Given the description of an element on the screen output the (x, y) to click on. 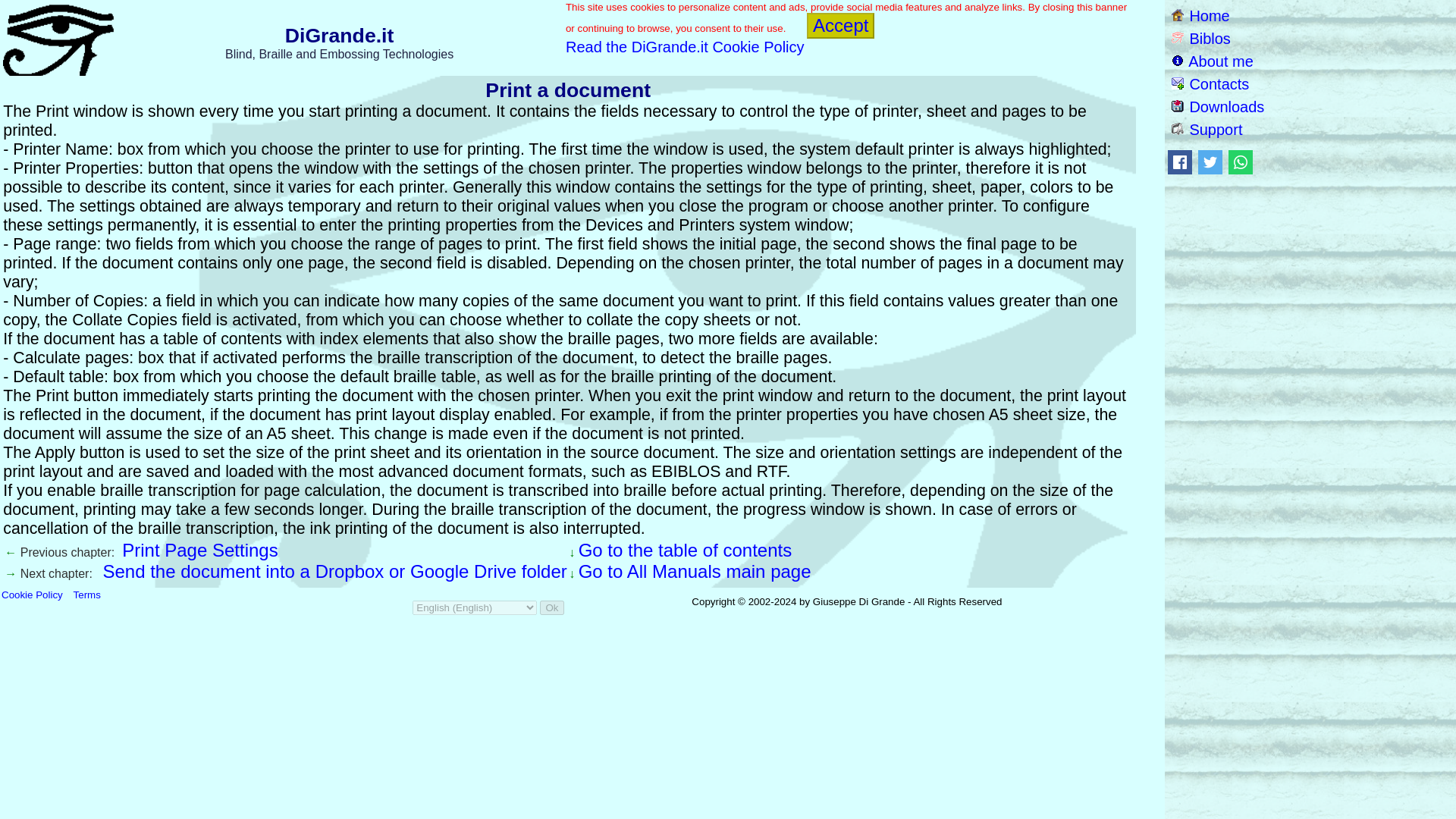
Downloads (1218, 106)
Biblos (1201, 38)
Home (1201, 15)
Go to All Manuals main page (694, 571)
DiGrande.it home page (1201, 15)
Contacts (1210, 84)
Share to Facebook (1179, 164)
Terms (87, 594)
Accept (840, 25)
Share to Whatsapp (1240, 164)
